Given the description of an element on the screen output the (x, y) to click on. 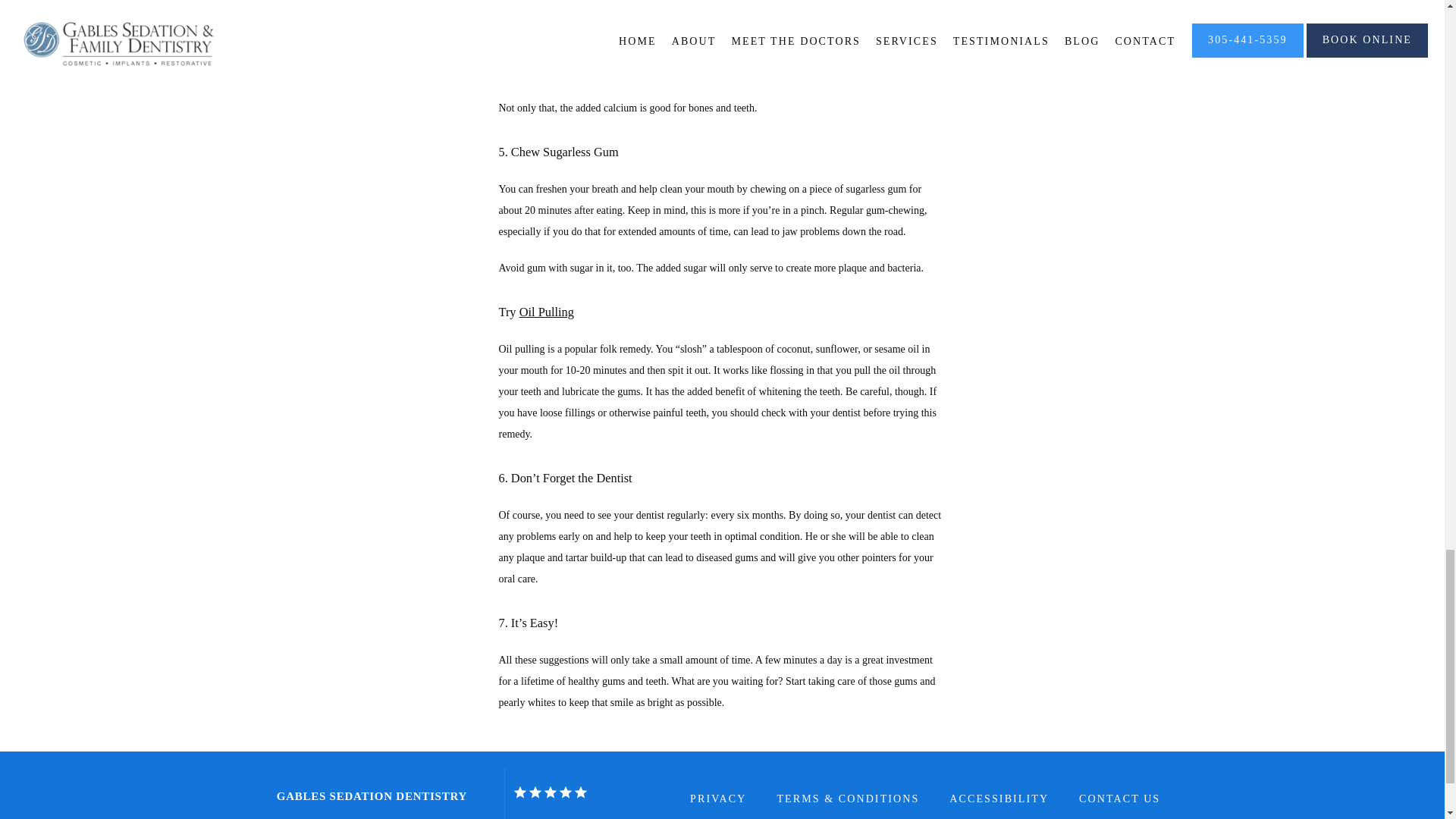
PRIVACY (717, 798)
ACCESSIBILITY (998, 798)
CONTACT US (1119, 798)
Oil Pulling (546, 311)
